Given the description of an element on the screen output the (x, y) to click on. 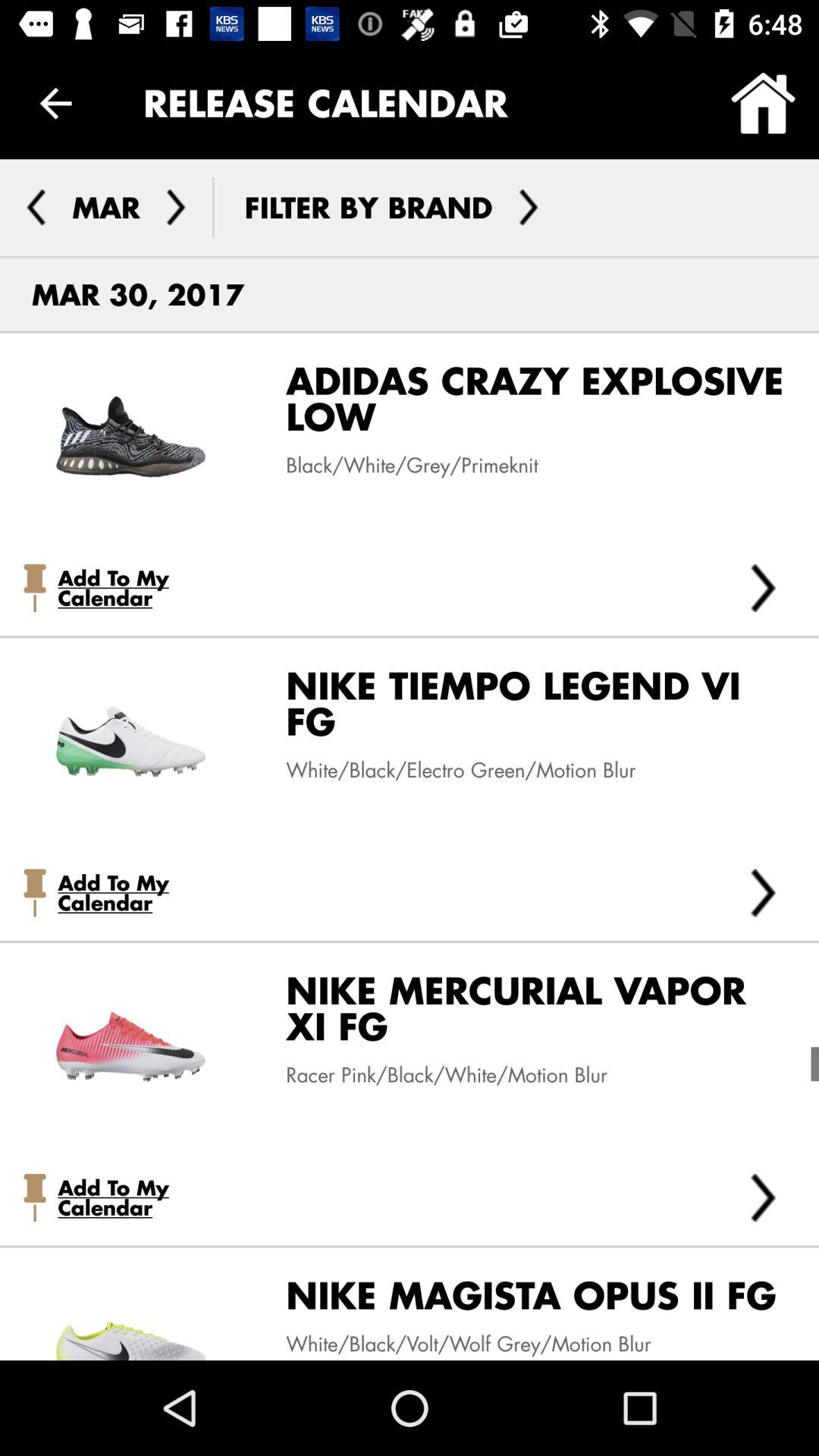
scroll to racer pink black item (434, 1074)
